Given the description of an element on the screen output the (x, y) to click on. 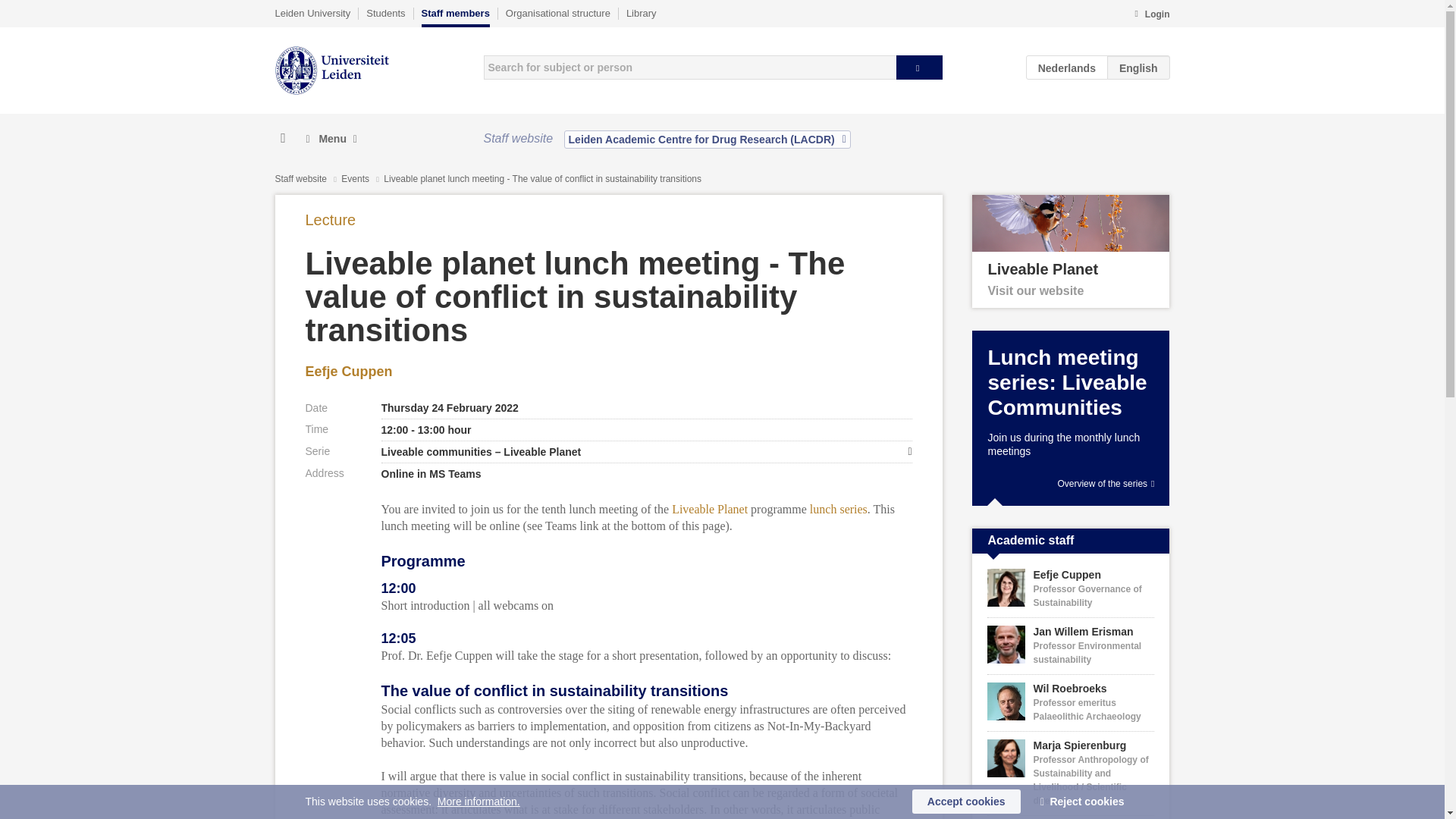
Library (641, 13)
Students (385, 13)
lunch series (838, 508)
Events (355, 178)
Leiden University (312, 13)
Liveable Planet (709, 508)
Staff members (455, 17)
Eefje Cuppen (347, 371)
Staff website (300, 178)
Login (1151, 14)
Search (919, 67)
Organisational structure (557, 13)
NL (1067, 67)
Menu (330, 139)
